Given the description of an element on the screen output the (x, y) to click on. 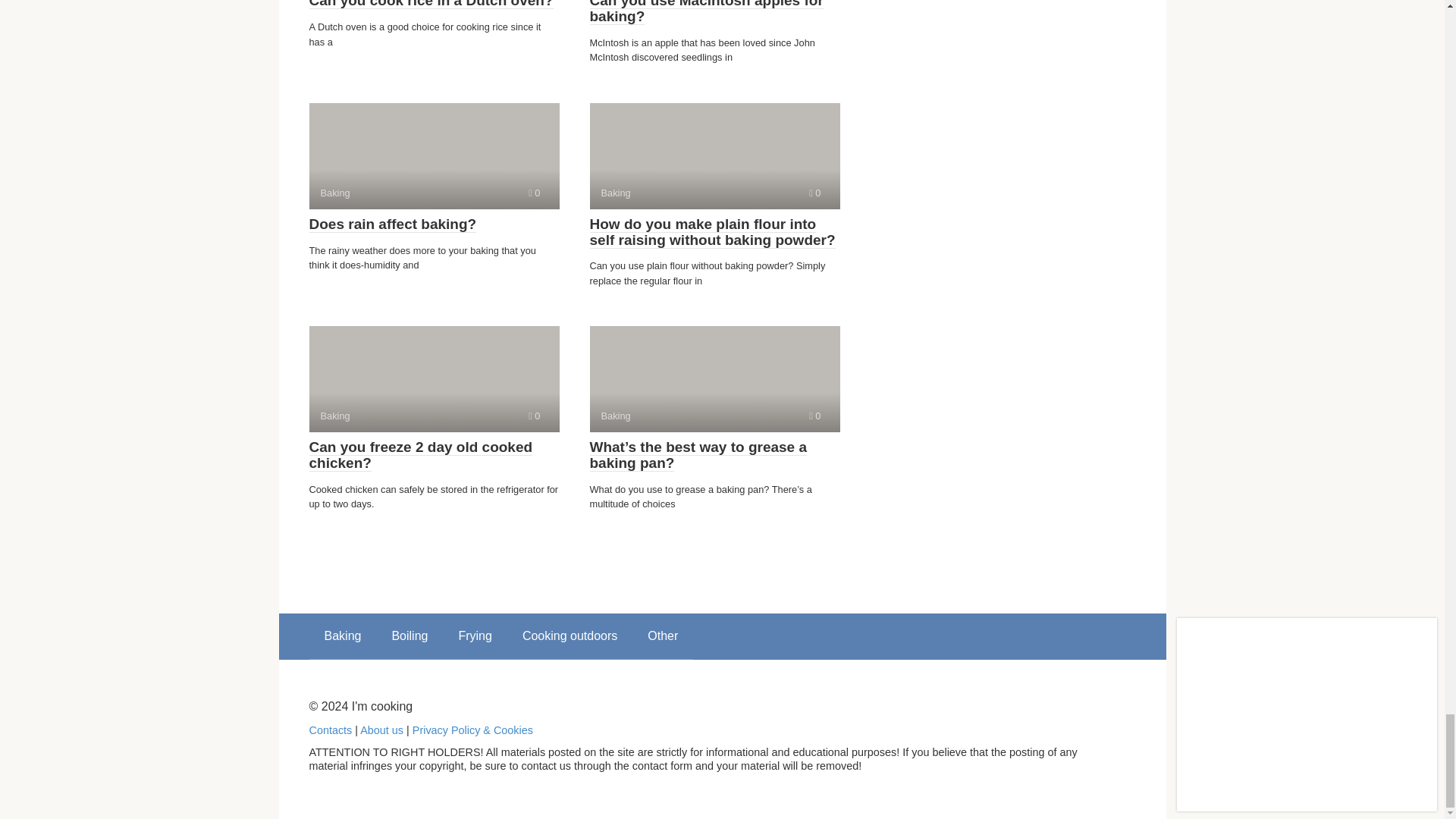
Comments (433, 156)
Can you use Macintosh apples for baking? (815, 415)
Comments (706, 12)
Can you cook rice in a Dutch oven? (534, 193)
Comments (430, 4)
Comments (534, 415)
